Given the description of an element on the screen output the (x, y) to click on. 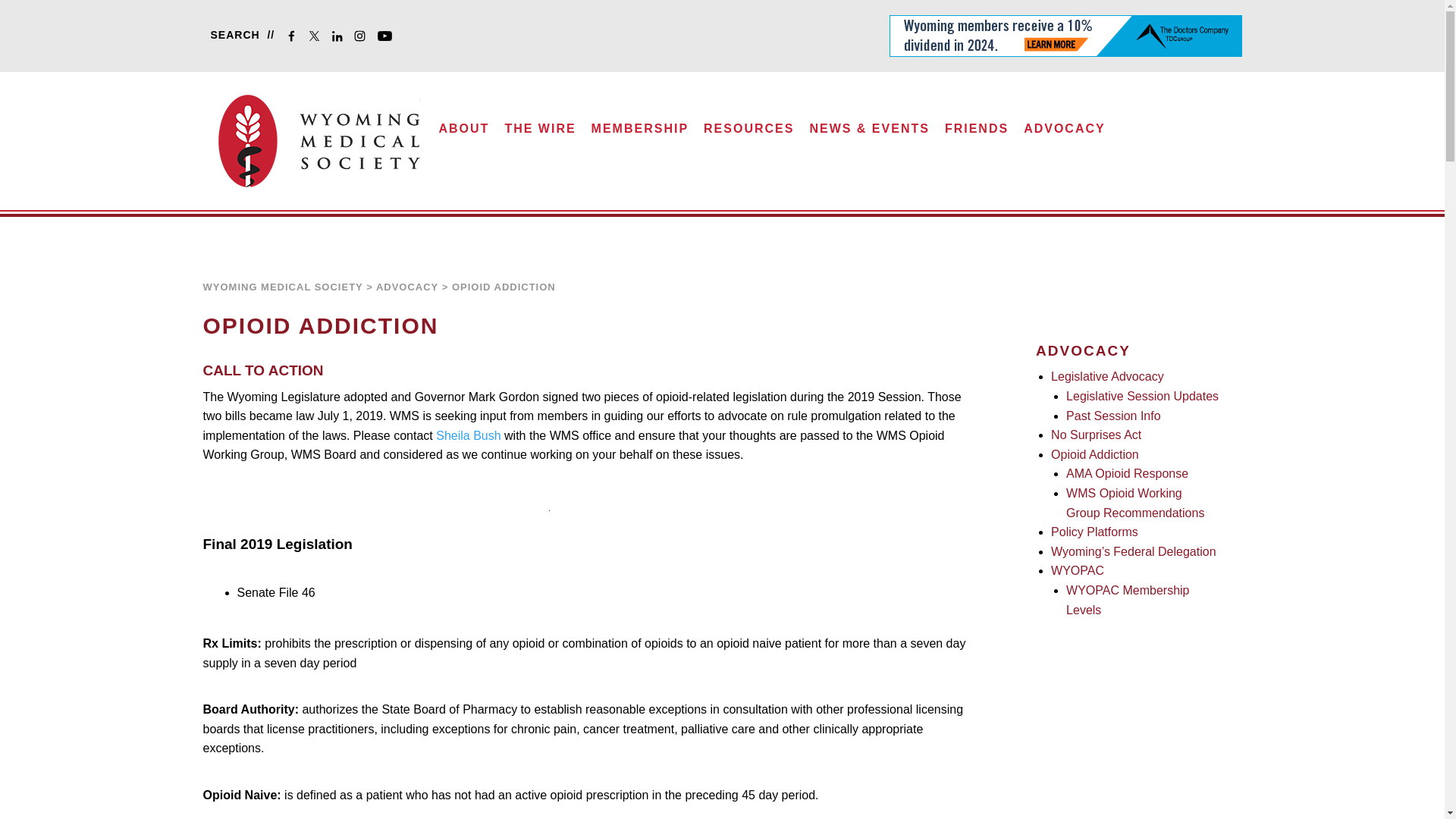
LINKEDIN (339, 38)
SEARCH (239, 34)
MEMBERSHIP (640, 133)
INSTAGRAM (362, 38)
Wyoming Medical Society (319, 141)
THE WIRE (539, 133)
RESOURCES (748, 133)
ABOUT (464, 133)
Go to Advocacy. (406, 286)
YOUTUBE (388, 38)
